Given the description of an element on the screen output the (x, y) to click on. 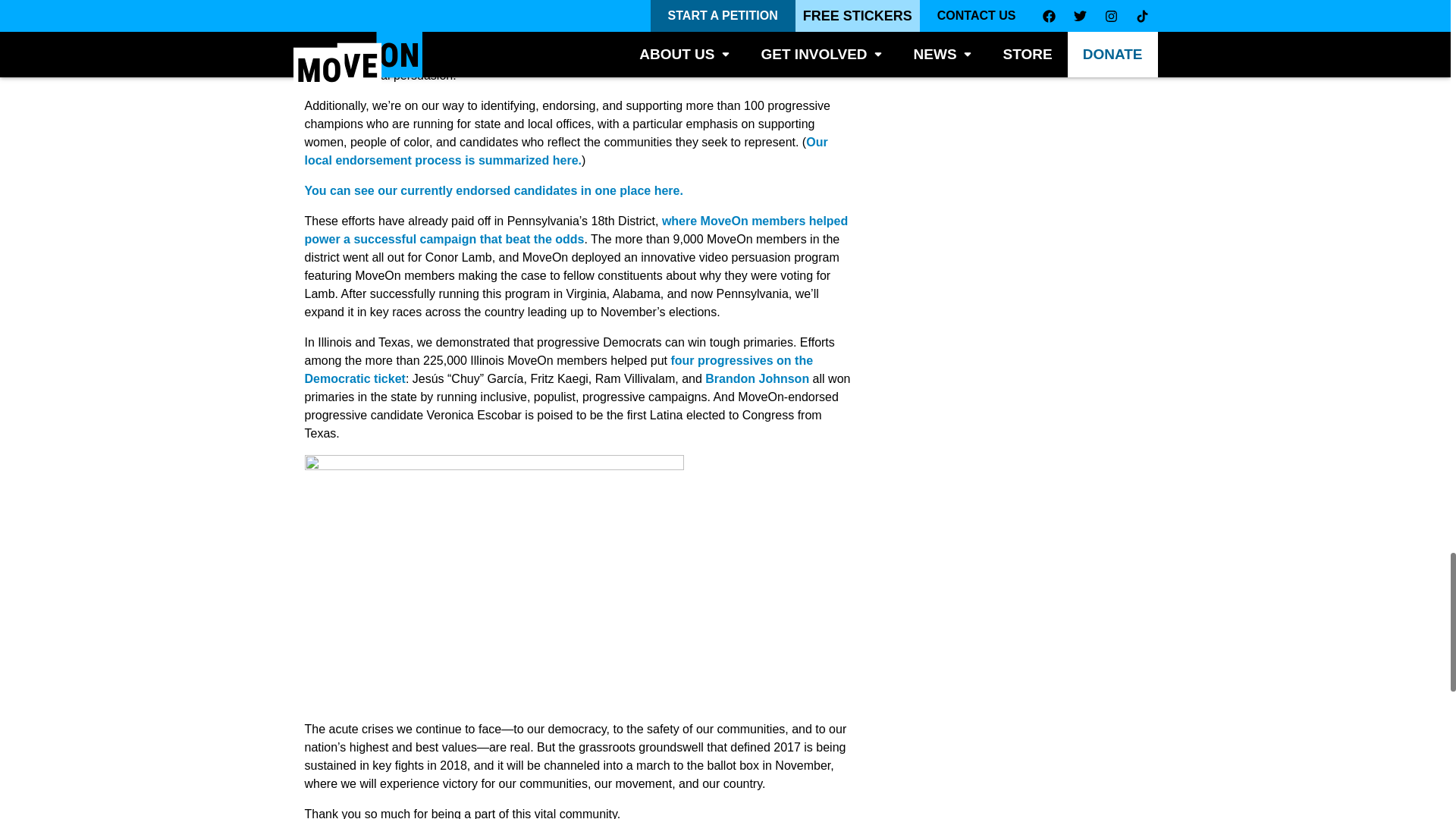
Brandon Johnson (756, 378)
four progressives on the Democratic ticket (558, 368)
Our local endorsement process is summarized here. (566, 151)
